Given the description of an element on the screen output the (x, y) to click on. 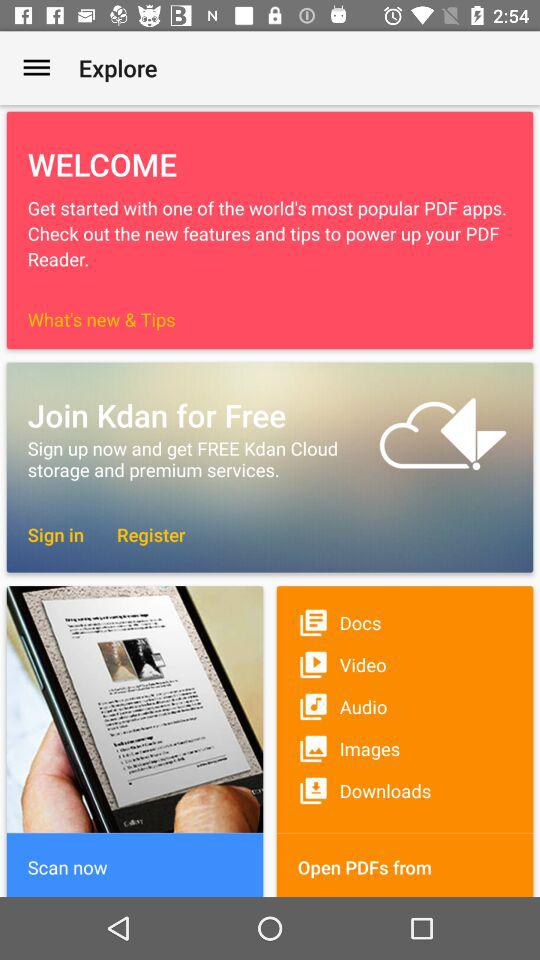
tap docs icon (404, 622)
